Given the description of an element on the screen output the (x, y) to click on. 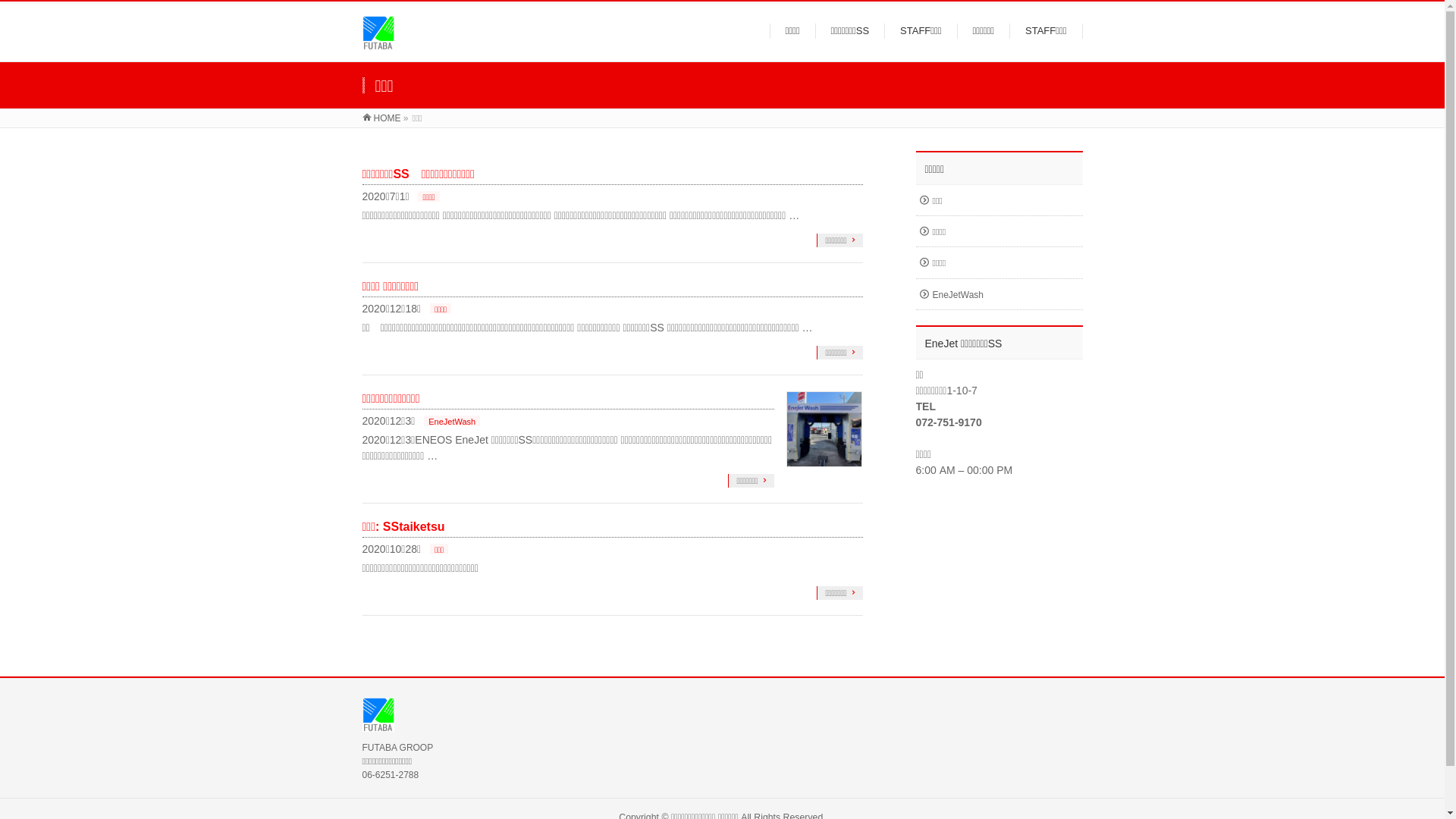
HOME Element type: text (381, 117)
FUTABA GROOP Element type: hover (378, 41)
EneJetWash Element type: text (999, 294)
EneJetWash Element type: text (451, 420)
